Given the description of an element on the screen output the (x, y) to click on. 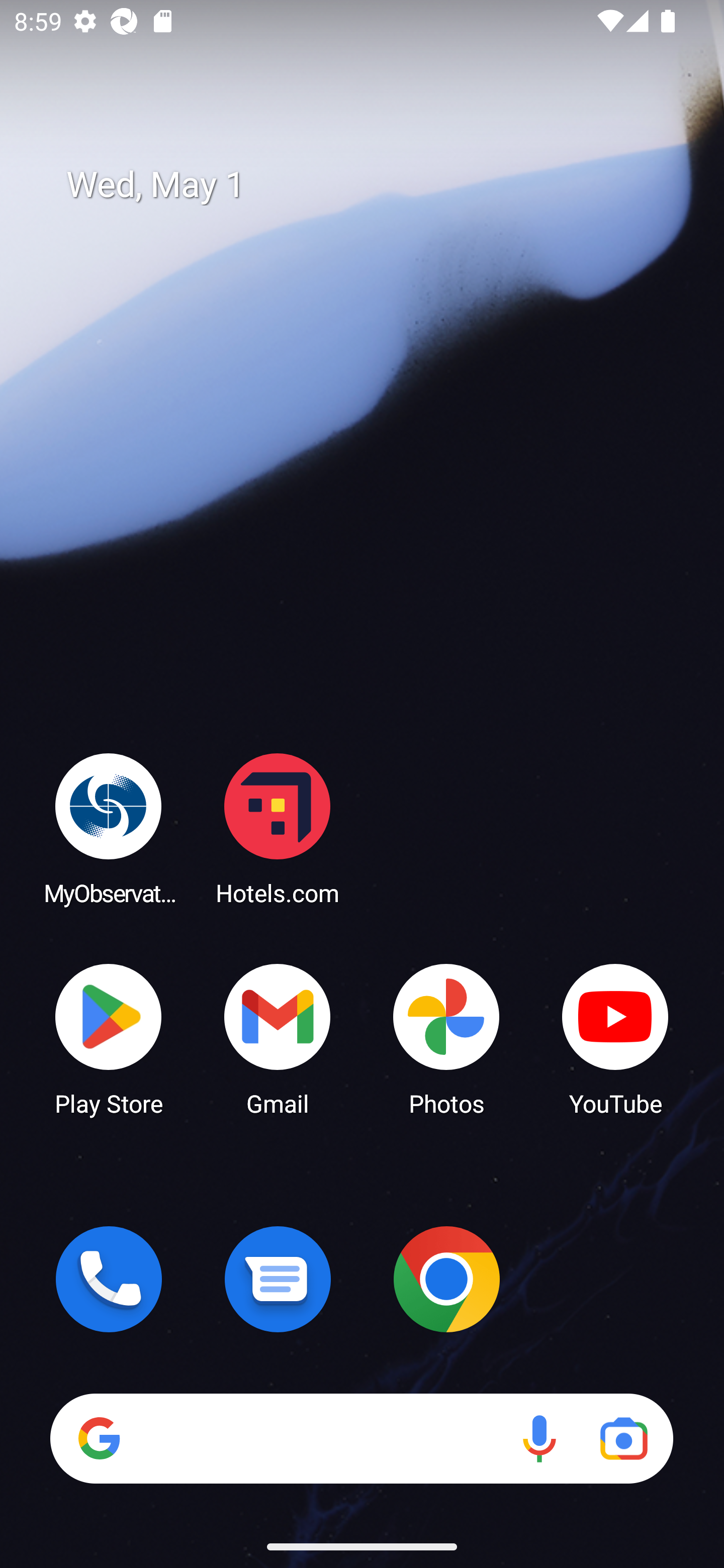
Wed, May 1 (375, 184)
MyObservatory (108, 828)
Hotels.com (277, 828)
Play Store (108, 1038)
Gmail (277, 1038)
Photos (445, 1038)
YouTube (615, 1038)
Phone (108, 1279)
Messages (277, 1279)
Chrome (446, 1279)
Search Voice search Google Lens (361, 1438)
Voice search (539, 1438)
Google Lens (623, 1438)
